Given the description of an element on the screen output the (x, y) to click on. 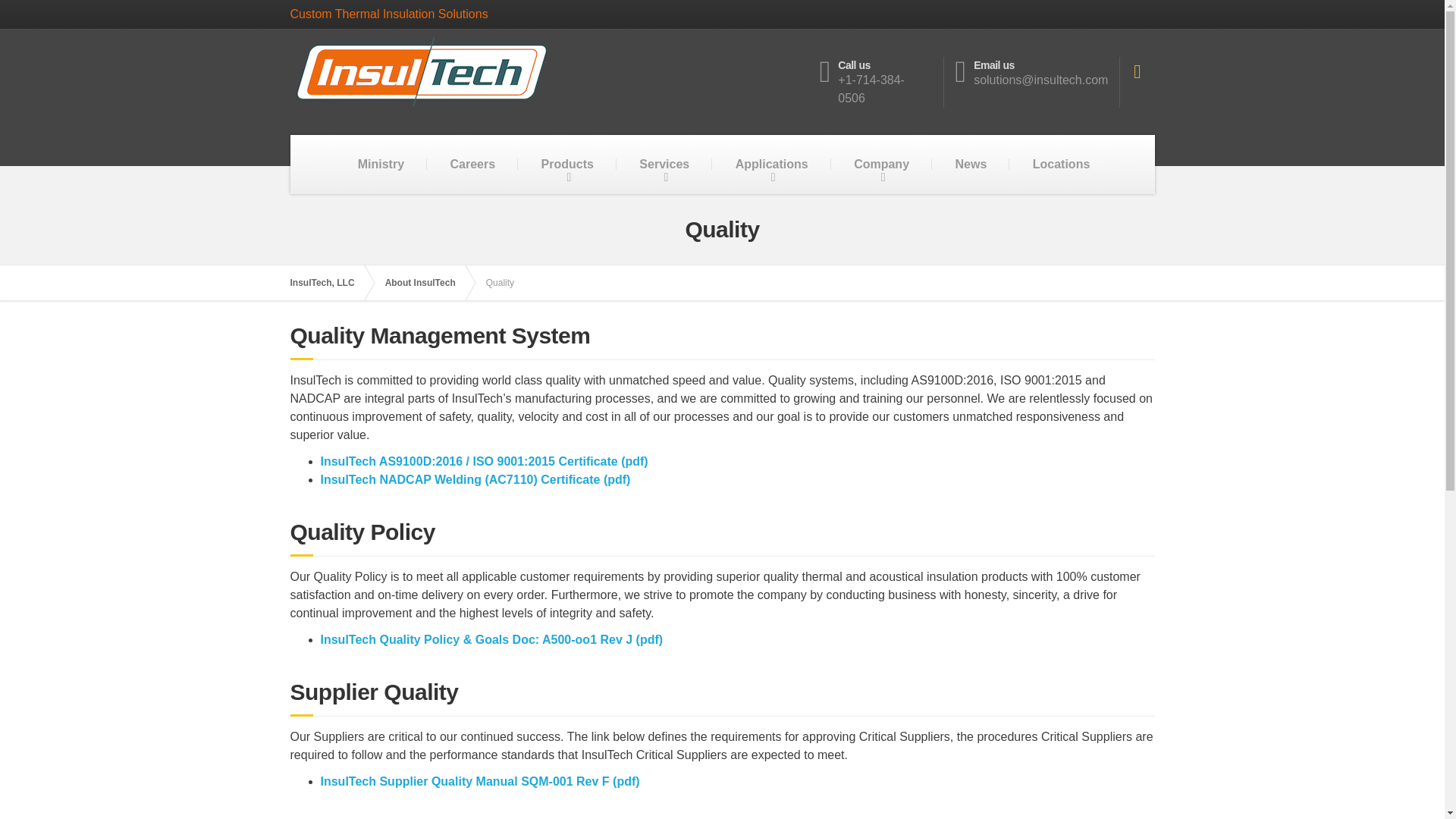
Ministry (380, 164)
News (970, 164)
Applications (772, 164)
Careers (473, 164)
Go to InsulTech, LLC. (329, 282)
Go to About InsulTech. (427, 282)
Services (663, 164)
Company (881, 164)
Products (566, 164)
